Given the description of an element on the screen output the (x, y) to click on. 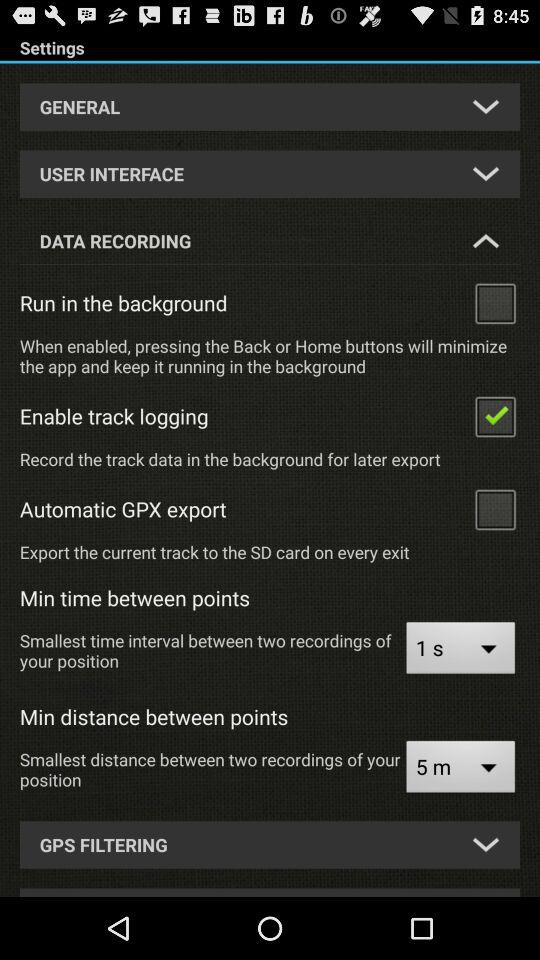
click to select check box (495, 415)
